Given the description of an element on the screen output the (x, y) to click on. 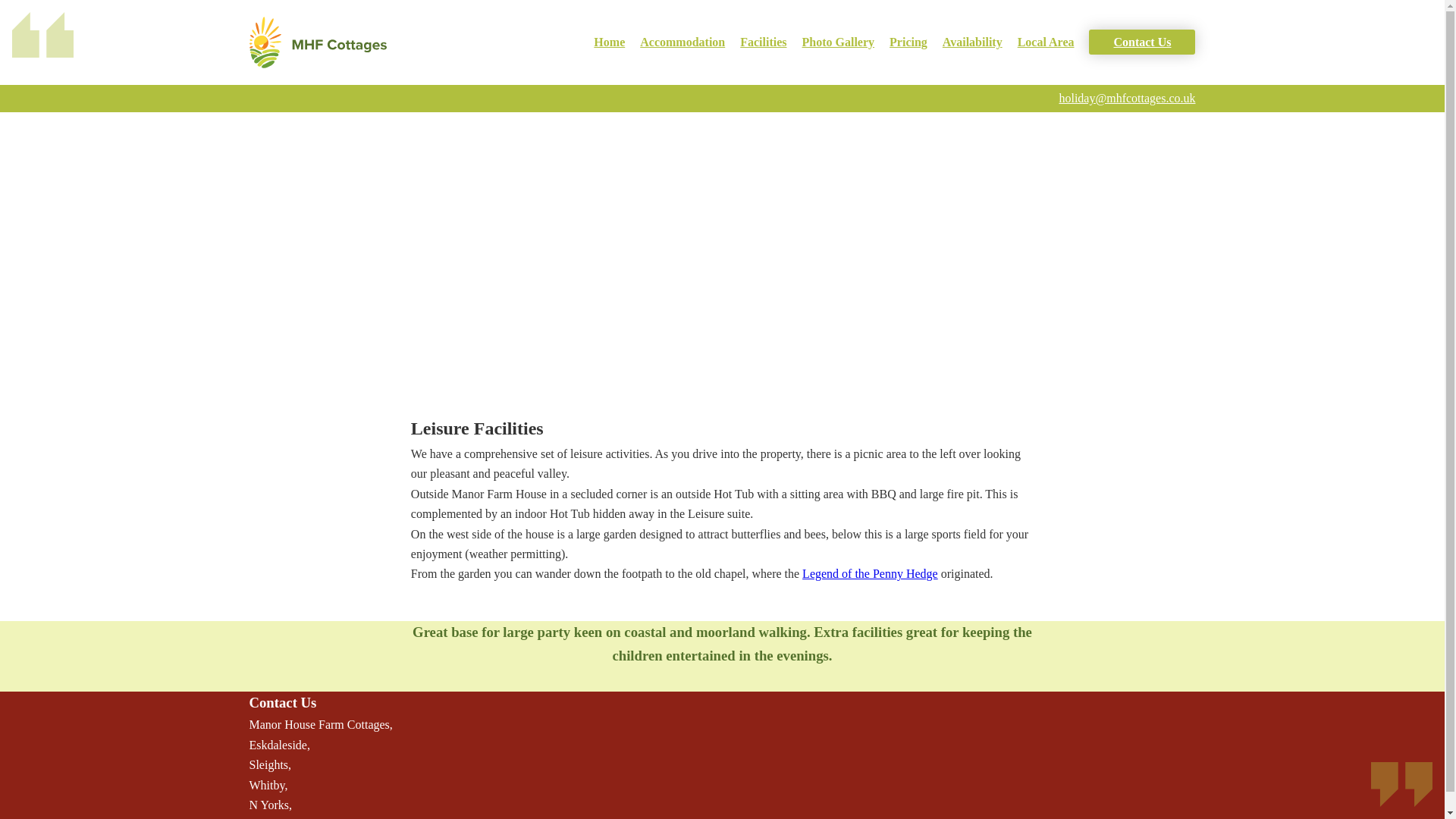
Accommodation (682, 42)
Contact Us (1142, 41)
Home (609, 42)
Pricing (908, 42)
Availability (972, 42)
Local Area (1045, 42)
Photo Gallery (838, 42)
Facilities (762, 42)
